Given the description of an element on the screen output the (x, y) to click on. 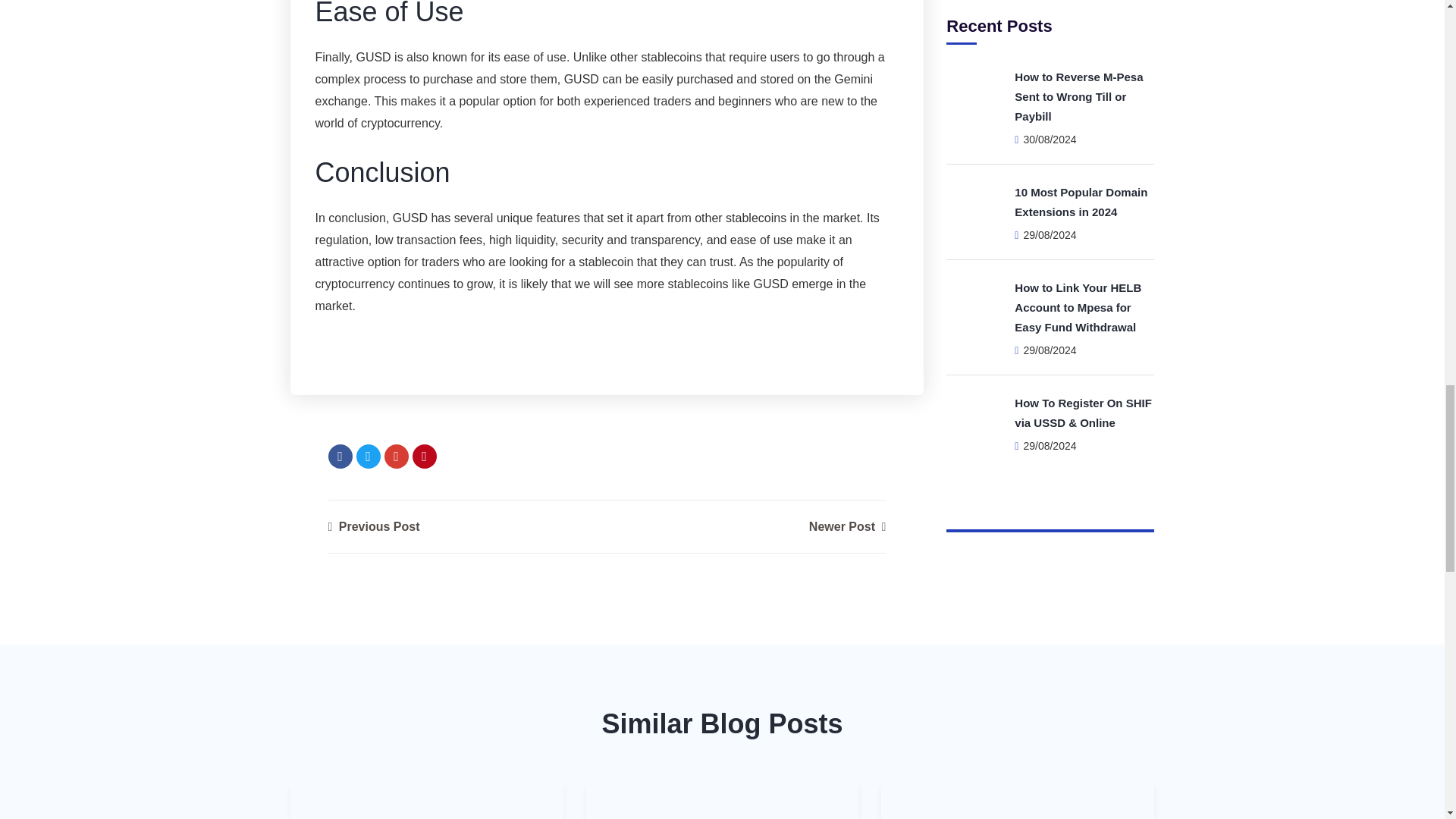
Twitter (368, 456)
Facebook (339, 456)
Previous Post (373, 526)
Pinterest (424, 456)
Newer Post (847, 526)
Google Plus (395, 456)
